Given the description of an element on the screen output the (x, y) to click on. 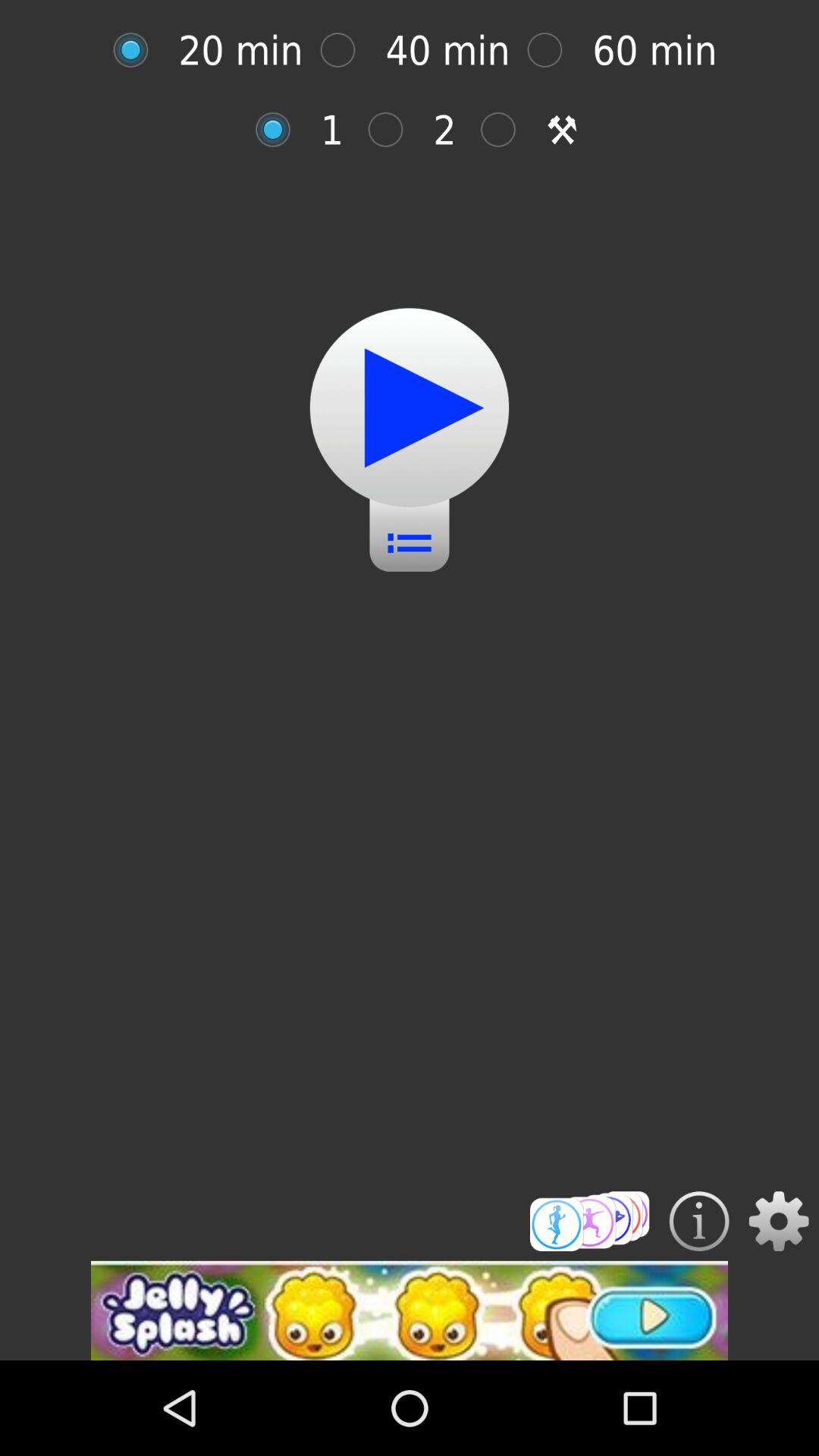
make one selection (280, 129)
